Given the description of an element on the screen output the (x, y) to click on. 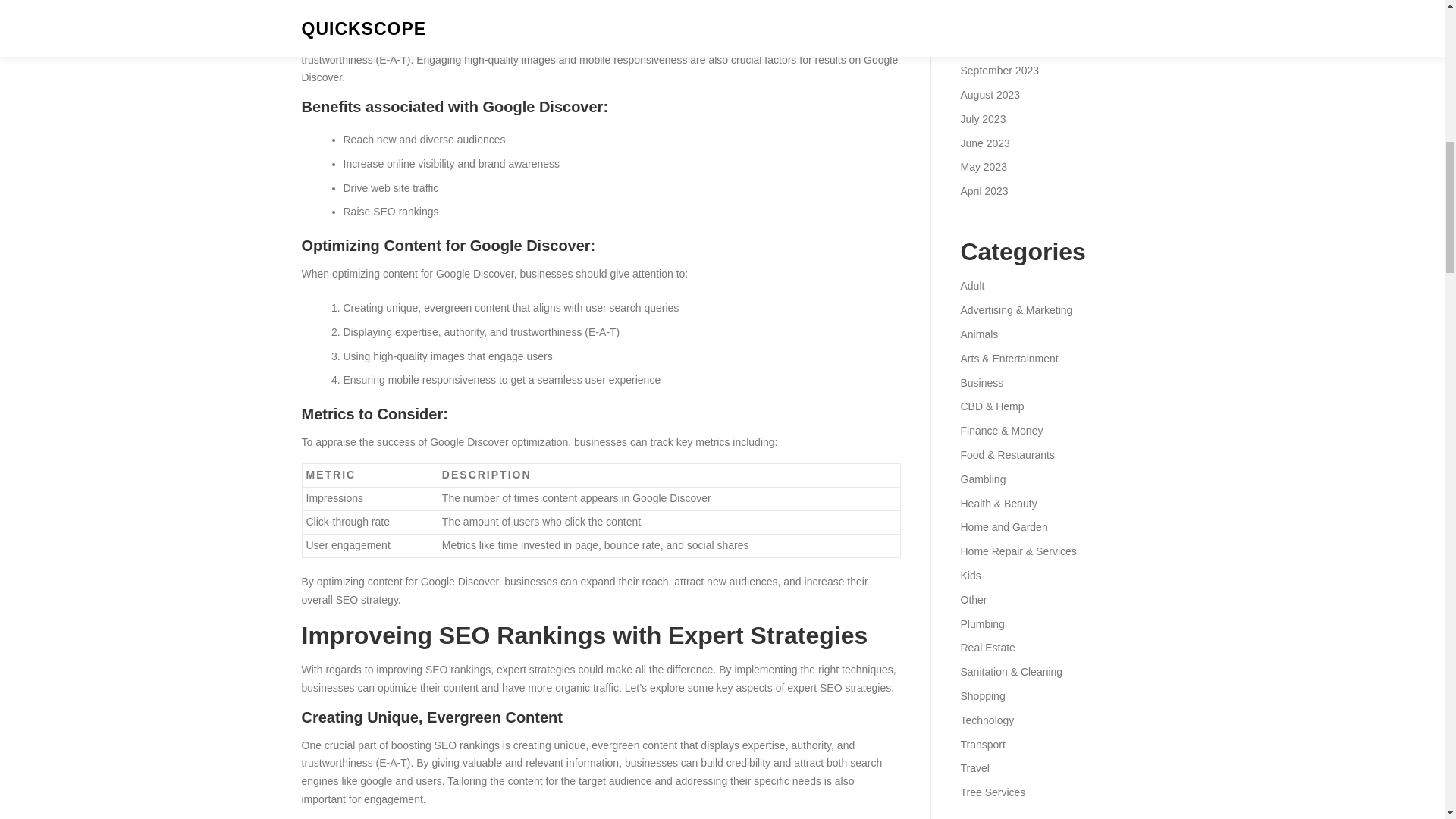
September 2023 (999, 70)
July 2023 (982, 119)
June 2023 (984, 143)
August 2023 (989, 94)
December 2023 (997, 2)
Adult (971, 285)
Animals (978, 334)
October 2023 (992, 46)
April 2023 (983, 191)
Business (981, 382)
